Given the description of an element on the screen output the (x, y) to click on. 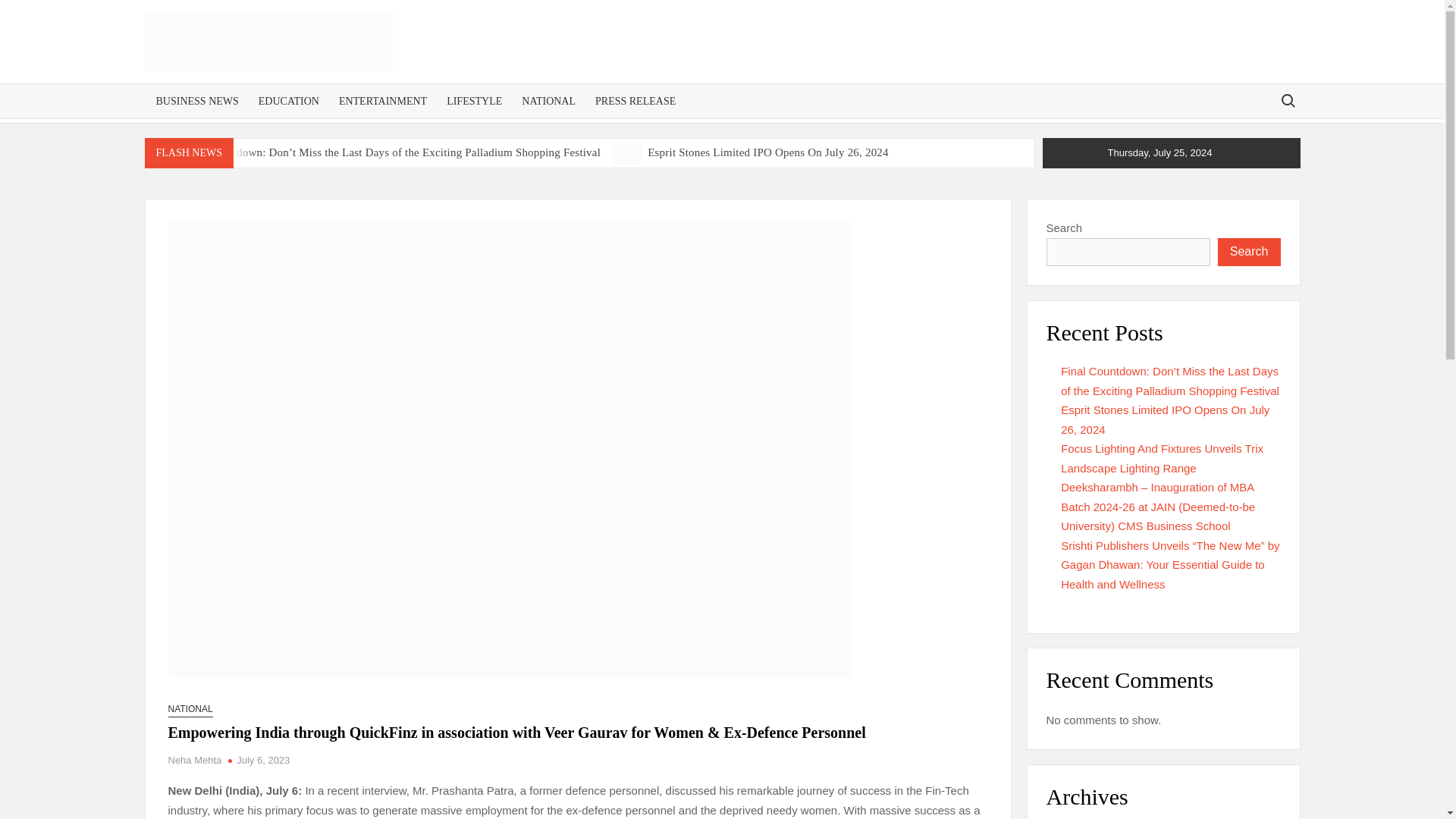
ENTERTAINMENT (382, 100)
NEWS DADDY (458, 79)
NATIONAL (548, 100)
LIFESTYLE (474, 100)
EDUCATION (288, 100)
Esprit Stones Limited IPO Opens On July 26, 2024 (767, 152)
BUSINESS NEWS (196, 100)
Esprit Stones Limited IPO Opens On July 26, 2024 (767, 152)
Esprit Stones Limited IPO Opens On July 26, 2024 (628, 151)
PRESS RELEASE (635, 100)
Search for: (1287, 100)
